Given the description of an element on the screen output the (x, y) to click on. 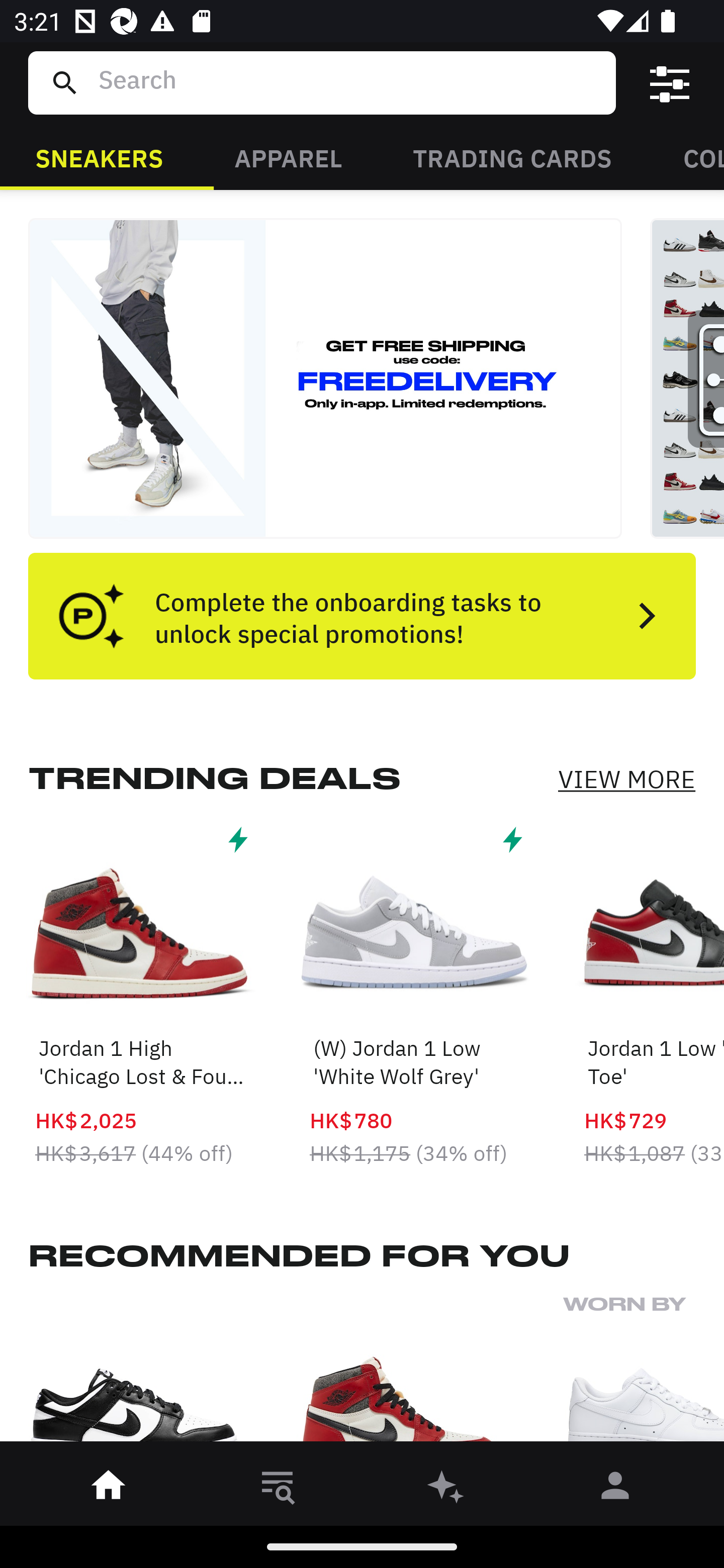
Search (349, 82)
 (669, 82)
SNEAKERS (99, 156)
APPAREL (287, 156)
TRADING CARDS (512, 156)
VIEW MORE (626, 779)
WORN BY (643, 1373)
󰋜 (108, 1488)
󱎸 (277, 1488)
󰫢 (446, 1488)
󰀄 (615, 1488)
